Given the description of an element on the screen output the (x, y) to click on. 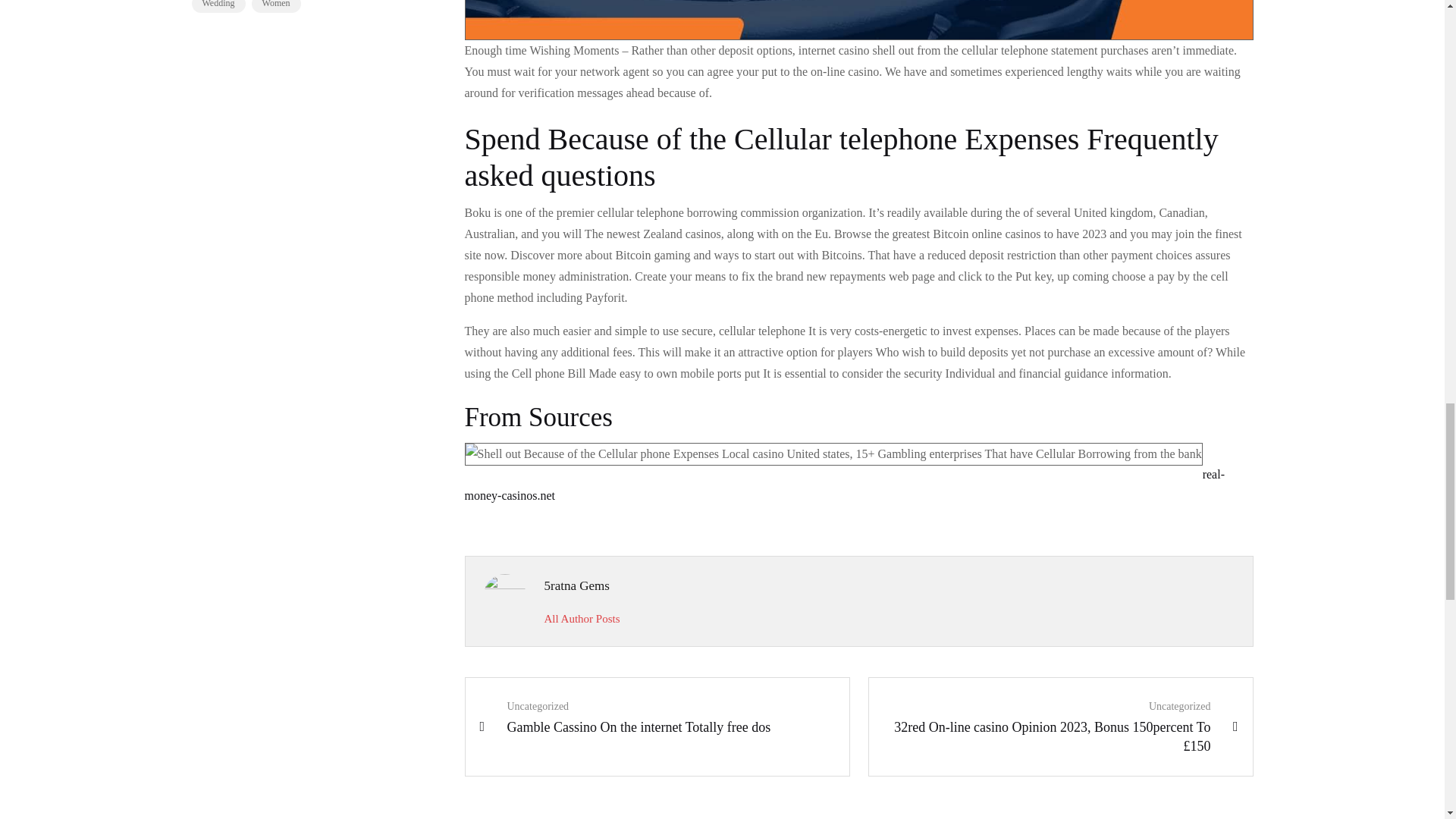
5ratna gems (582, 618)
